Given the description of an element on the screen output the (x, y) to click on. 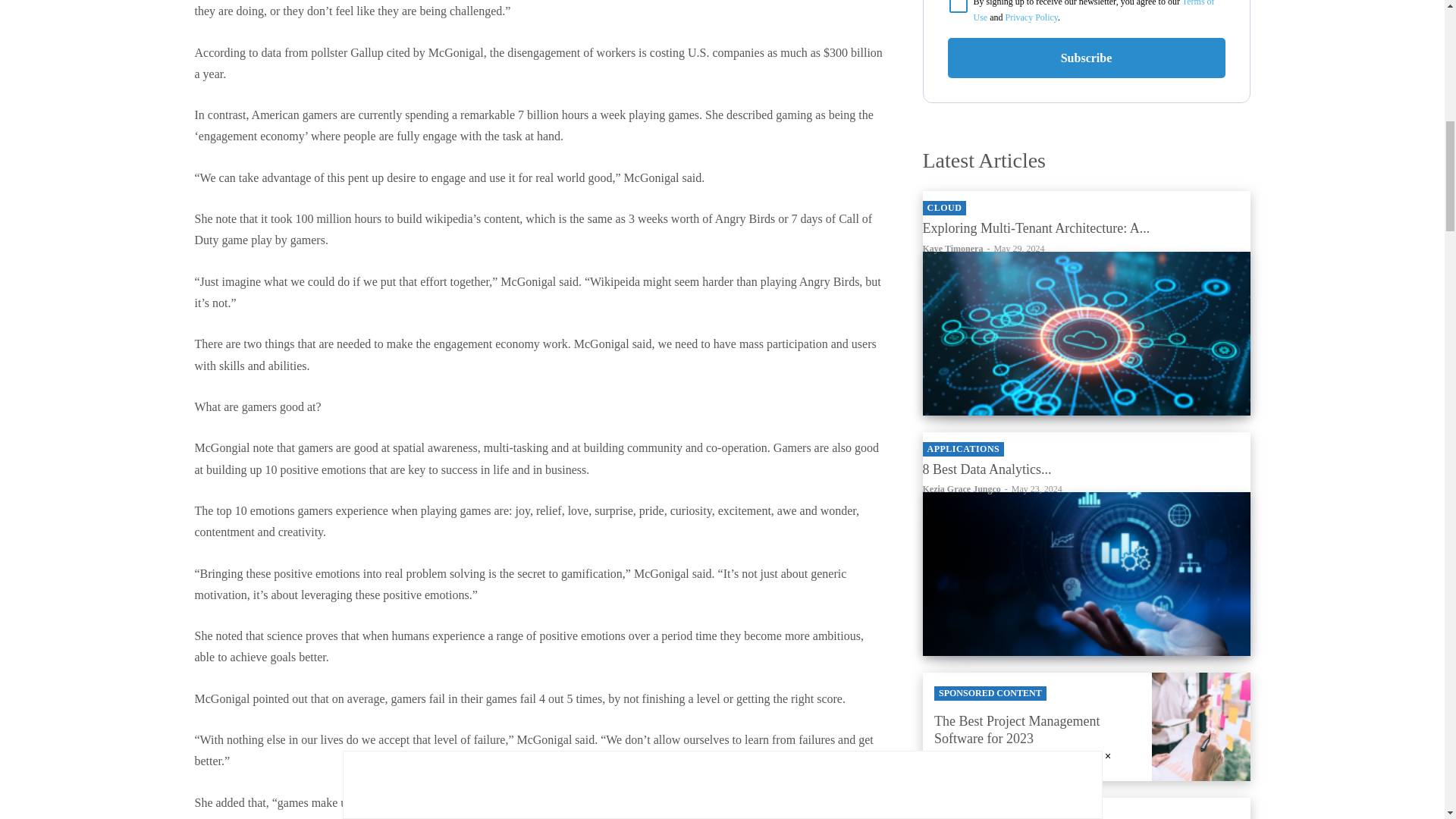
on (958, 6)
